Given the description of an element on the screen output the (x, y) to click on. 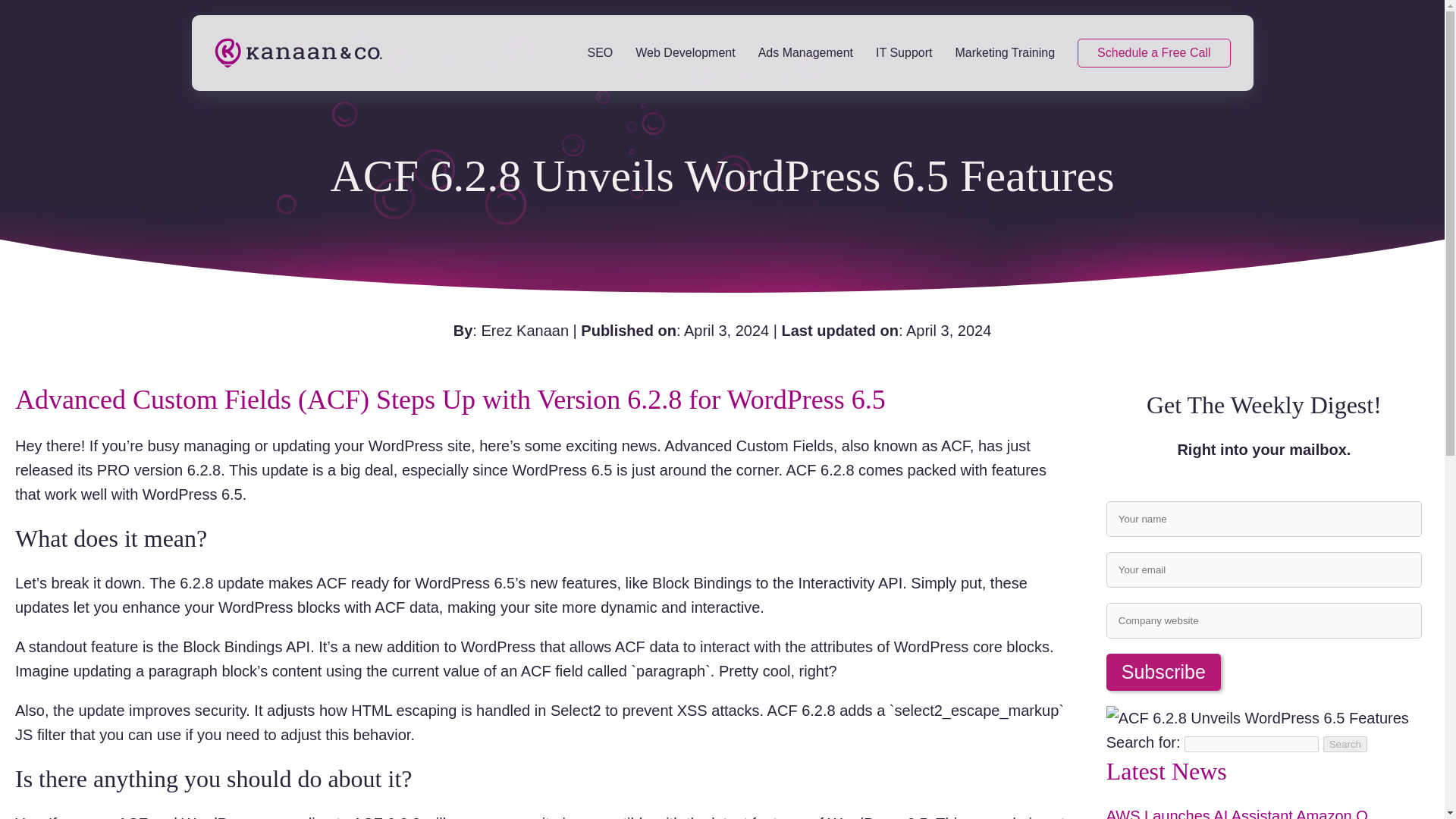
Schedule a Free Call (1153, 52)
AWS Launches AI Assistant Amazon Q (1237, 813)
Marketing Training (1004, 52)
AWS Launches AI Assistant Amazon Q (1237, 813)
Ads Management (805, 52)
Search (1345, 744)
Subscribe (1264, 539)
IT Support (1163, 672)
Web Development (903, 52)
